Given the description of an element on the screen output the (x, y) to click on. 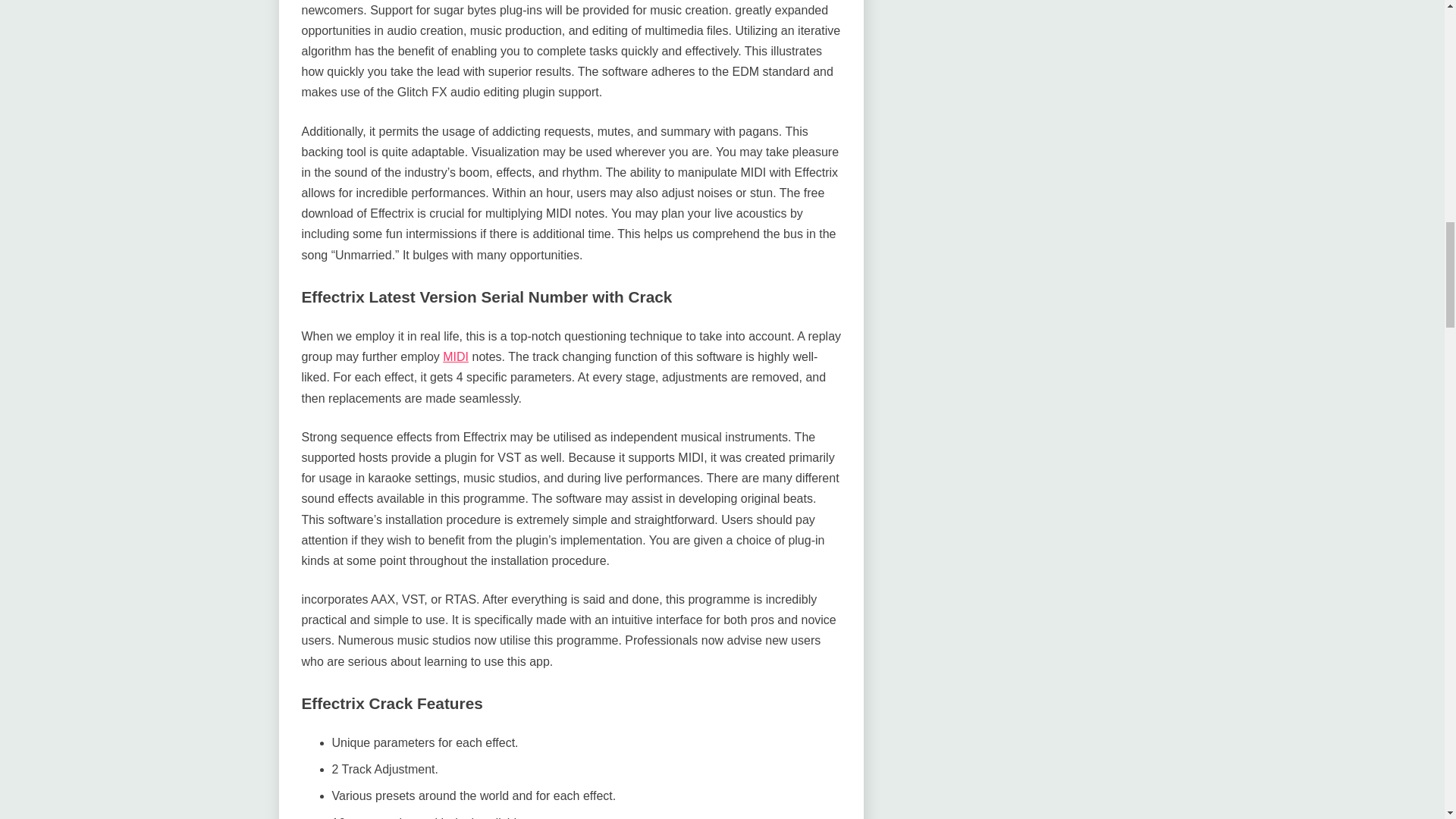
MIDI (455, 356)
